Given the description of an element on the screen output the (x, y) to click on. 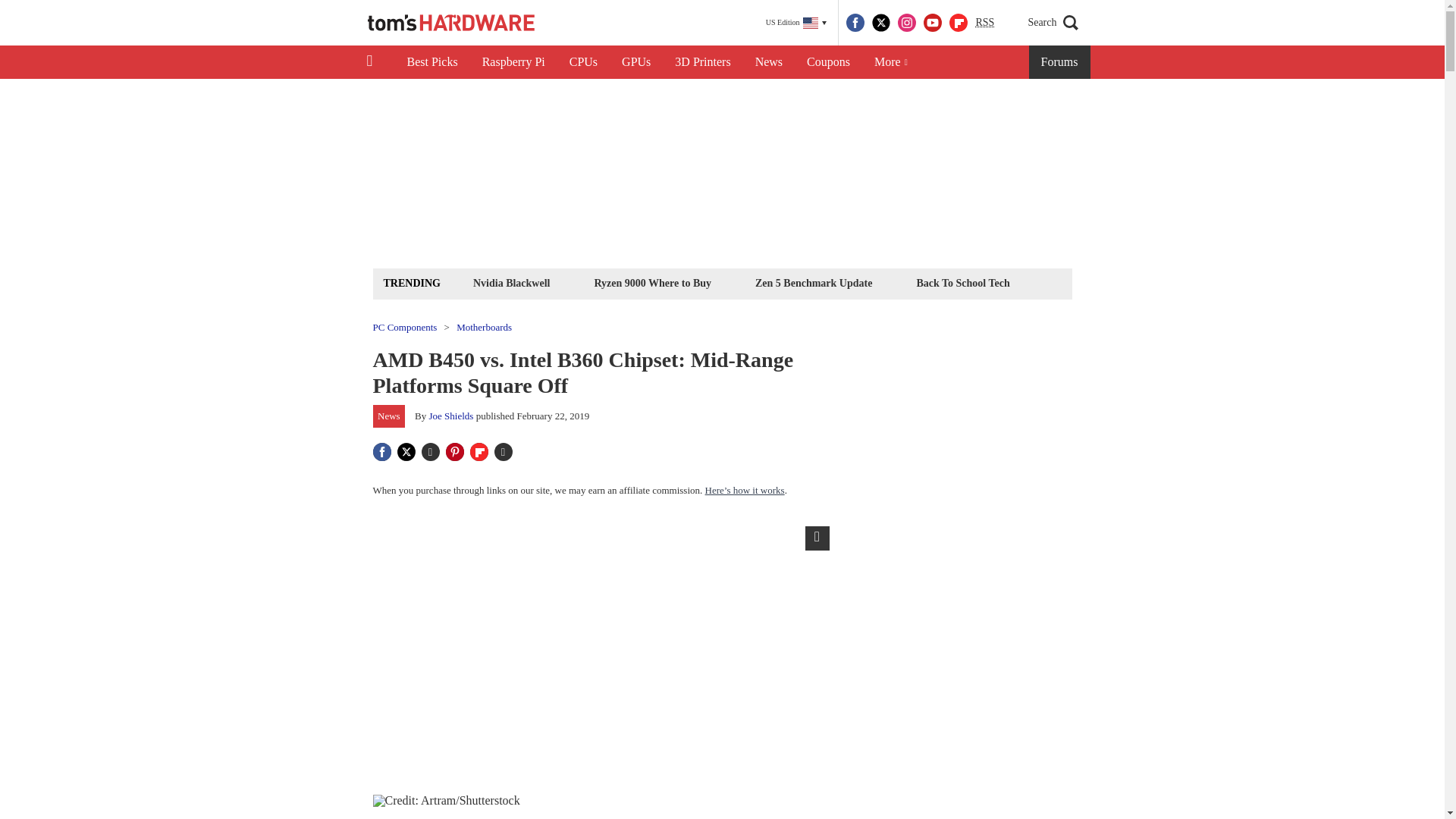
Best Picks (431, 61)
US Edition (796, 22)
RSS (984, 22)
Really Simple Syndication (984, 21)
Raspberry Pi (513, 61)
GPUs (636, 61)
Coupons (827, 61)
3D Printers (702, 61)
News (768, 61)
Forums (1059, 61)
